Given the description of an element on the screen output the (x, y) to click on. 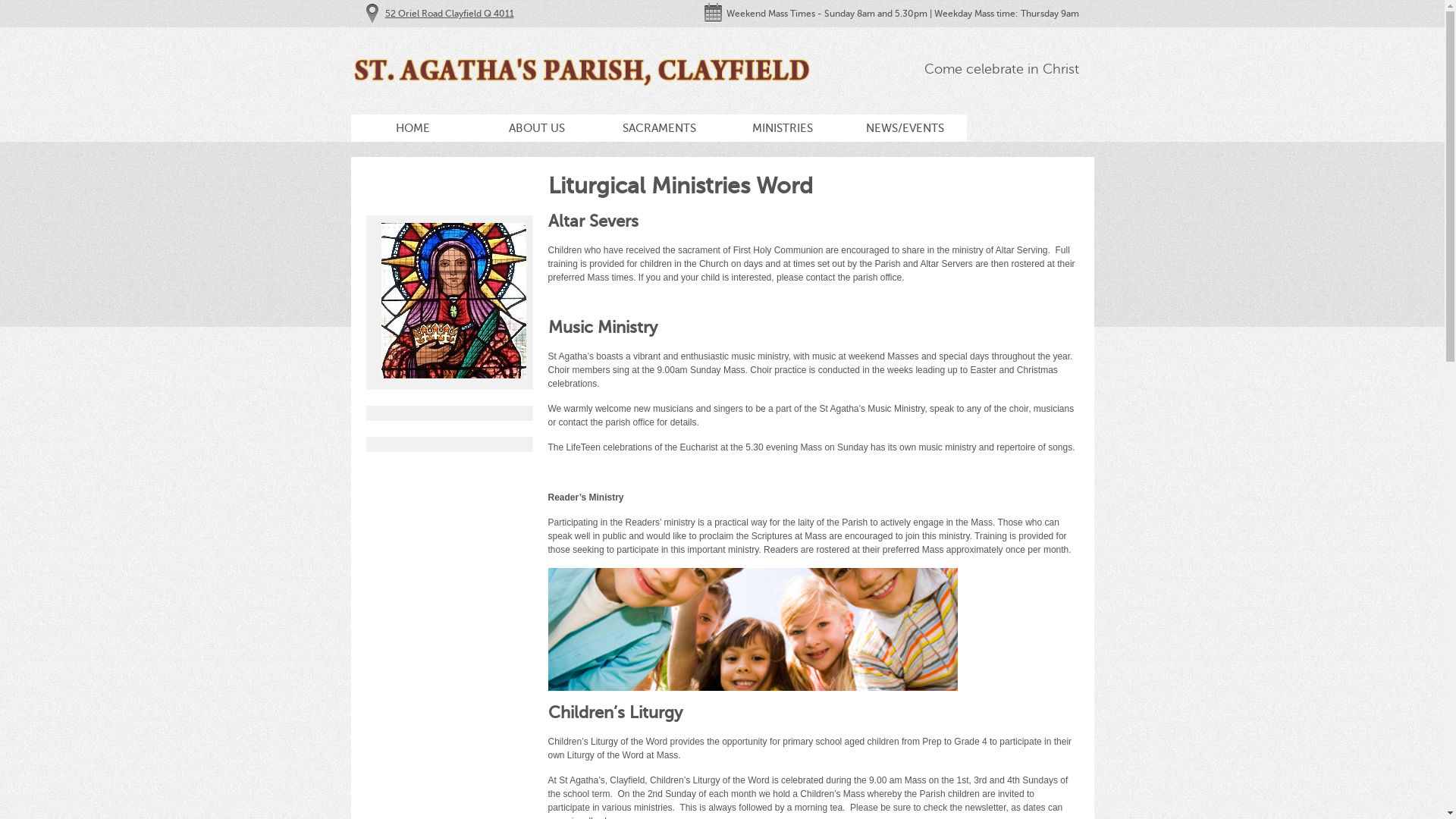
NEWS/EVENTS Element type: text (904, 127)
SACRAMENTS Element type: text (658, 127)
52 Oriel Road Clayfield Q 4011 Element type: text (449, 13)
HOME Element type: text (412, 127)
MINISTRIES Element type: text (781, 127)
ABOUT US Element type: text (535, 127)
